Given the description of an element on the screen output the (x, y) to click on. 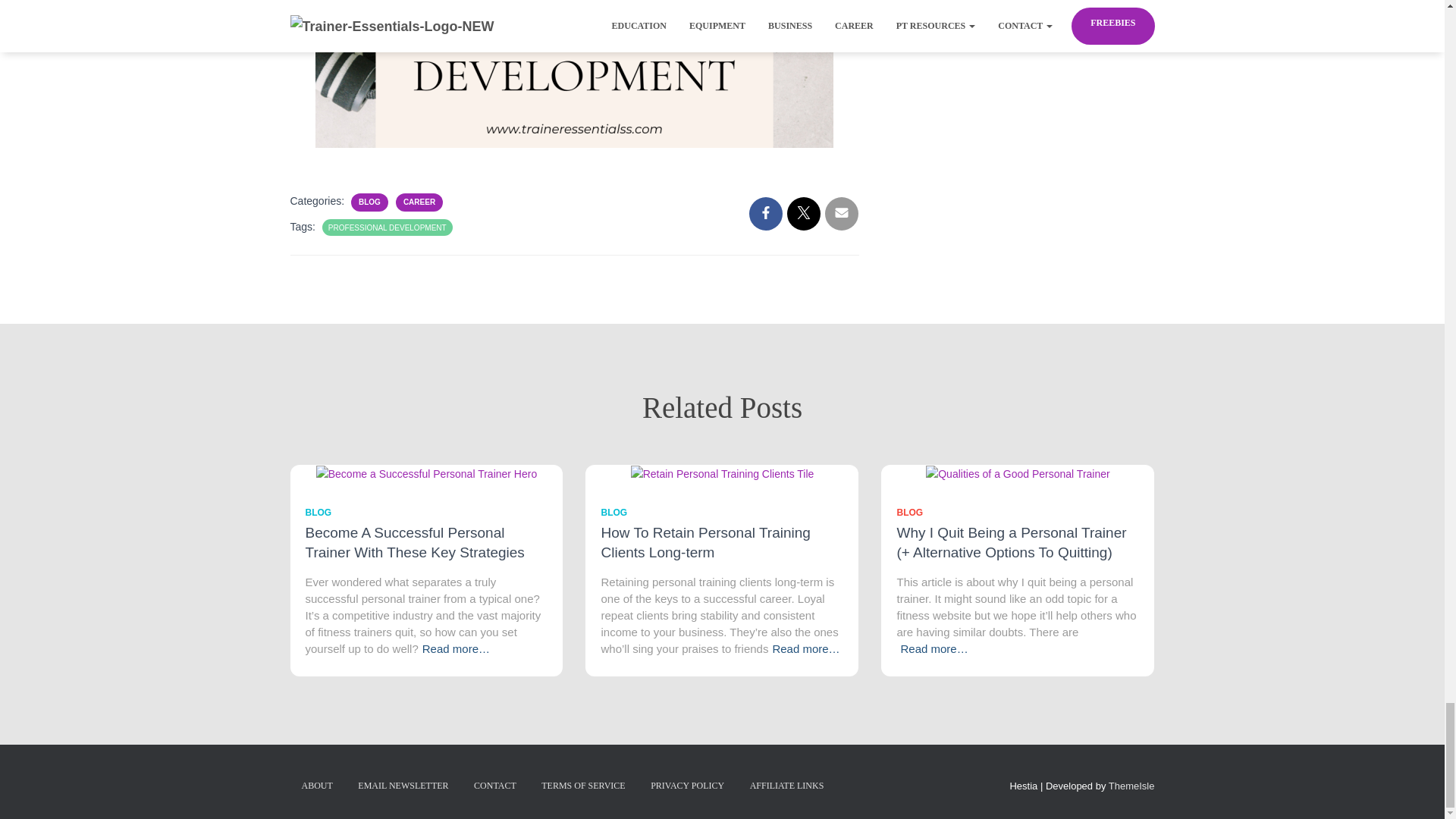
CAREER (419, 202)
BLOG (369, 202)
BLOG (613, 511)
PROFESSIONAL DEVELOPMENT (387, 227)
BLOG (317, 511)
How To Retain Personal Training Clients Long-term (704, 542)
